Given the description of an element on the screen output the (x, y) to click on. 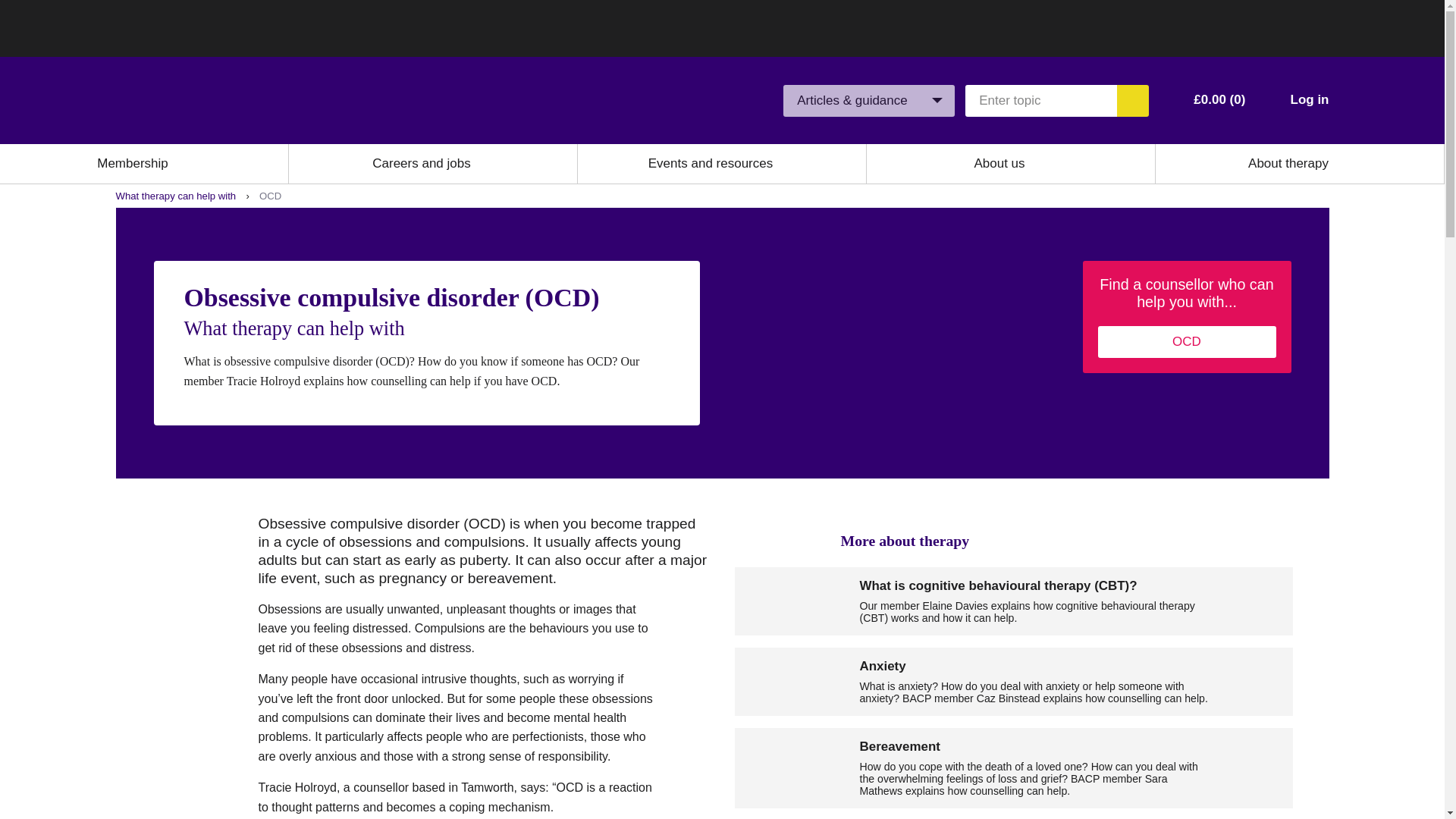
Log in (1309, 99)
Membership (132, 163)
Events and resources (710, 163)
Search the BACP website (1132, 101)
Careers and jobs (421, 163)
